Given the description of an element on the screen output the (x, y) to click on. 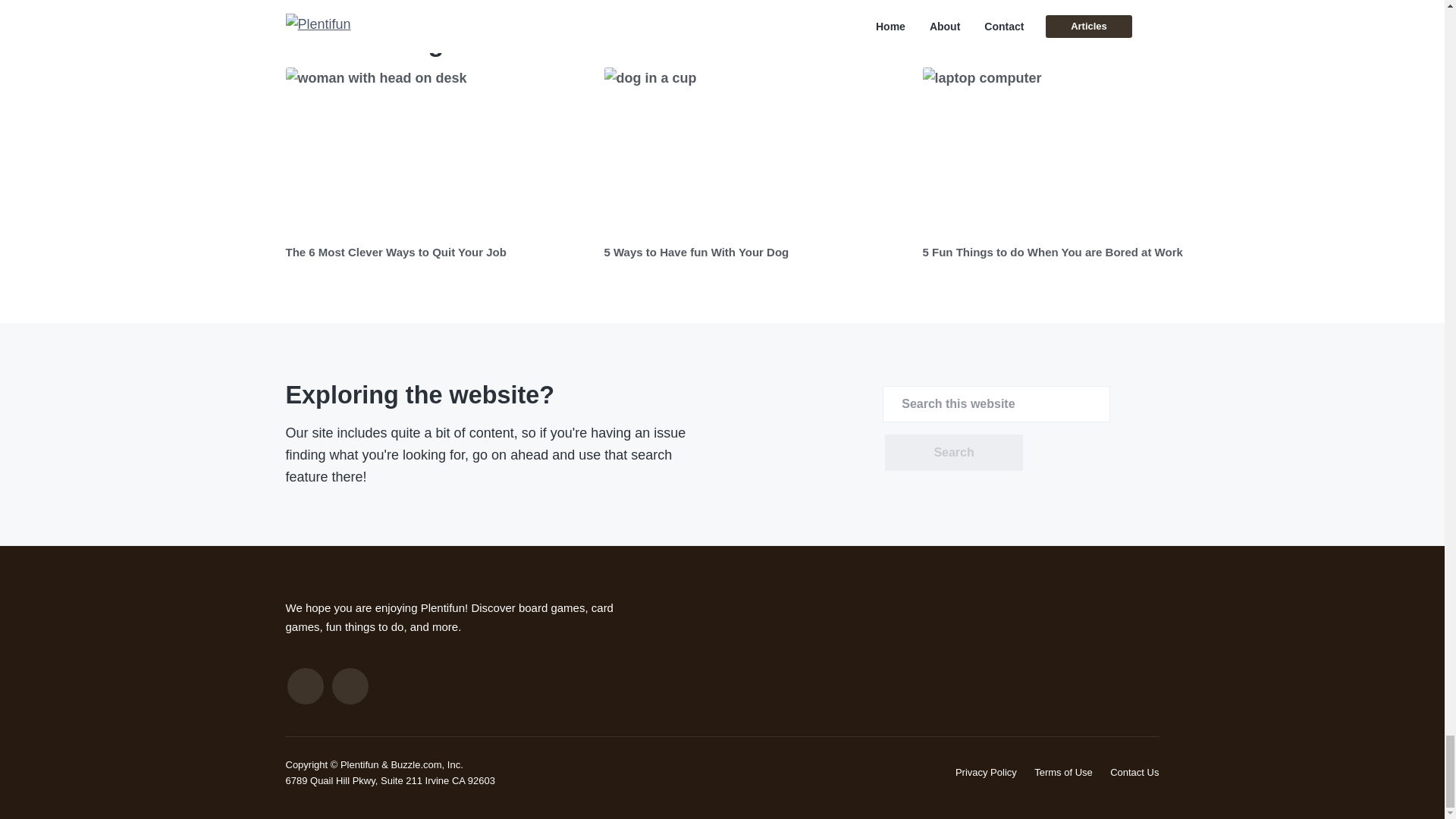
Search (953, 452)
The 6 Most Clever Ways to Quit Your Job (395, 251)
Permanent Link to The 6 Most Clever Ways to Quit Your Job (395, 251)
5 Fun Things to do When You are Bored at Work (1051, 251)
Permanent Link to 5 Ways to Have fun With Your Dog (696, 251)
Permanent Link to 5 Ways to Have fun With Your Dog (755, 151)
Search (953, 452)
Permanent Link to The 6 Most Clever Ways to Quit Your Job (436, 151)
Search (953, 452)
